Given the description of an element on the screen output the (x, y) to click on. 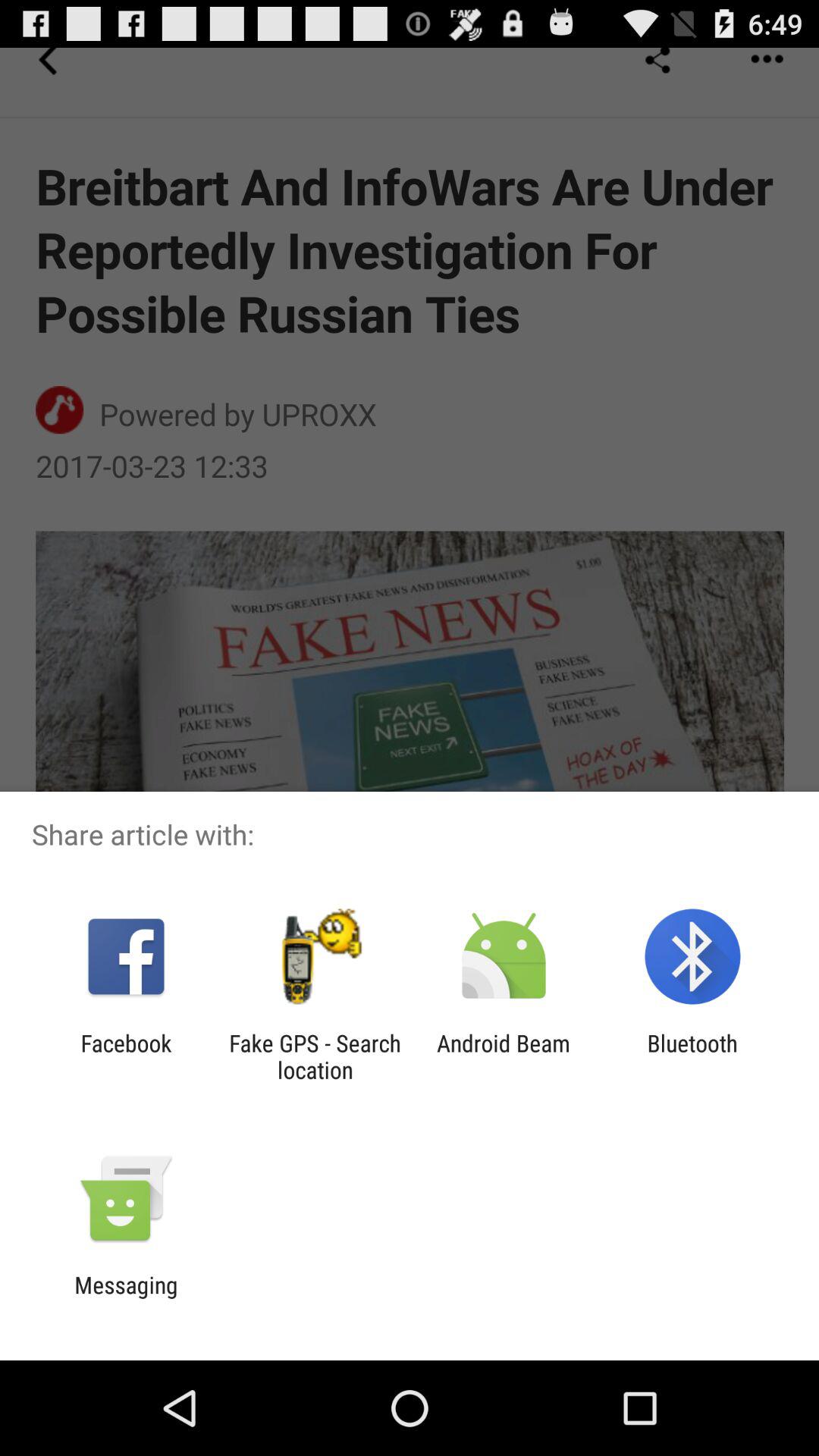
open item next to the android beam app (692, 1056)
